Given the description of an element on the screen output the (x, y) to click on. 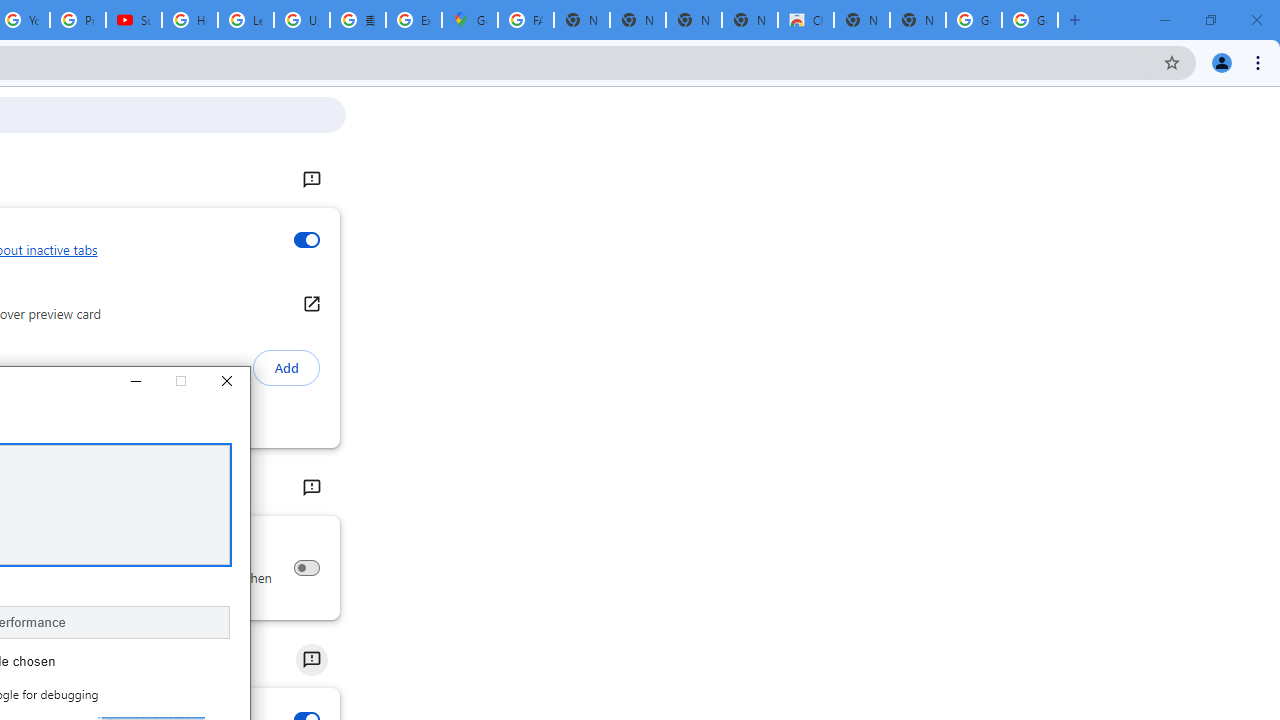
New Tab (917, 20)
Memory Saver (306, 568)
Subscriptions - YouTube (134, 20)
Maximize (180, 381)
General (310, 179)
Speed (310, 659)
How Chrome protects your passwords - Google Chrome Help (189, 20)
